Given the description of an element on the screen output the (x, y) to click on. 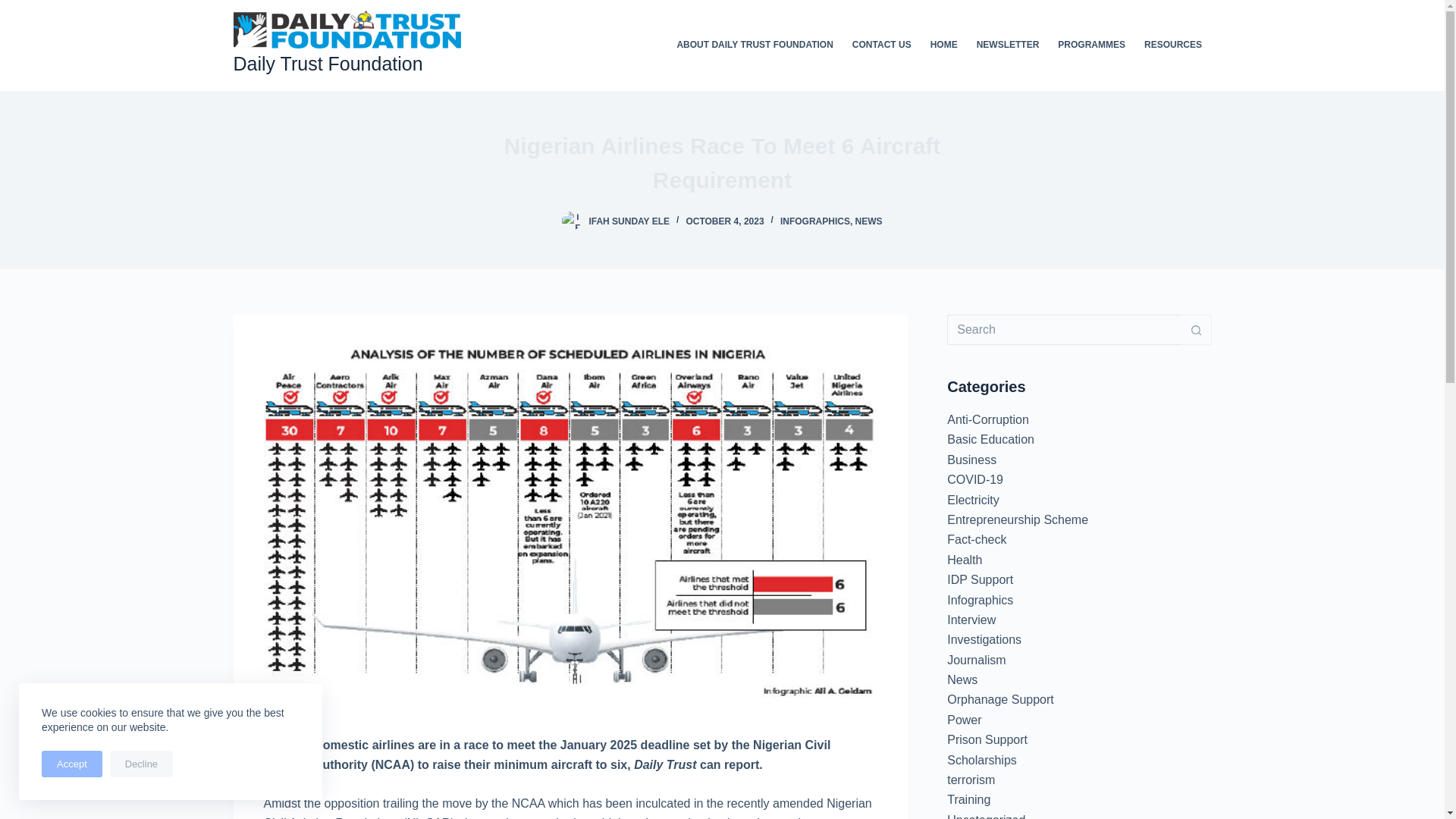
PROGRAMMES (1091, 45)
Basic Education (990, 439)
ABOUT DAILY TRUST FOUNDATION (754, 45)
IFAH SUNDAY ELE (628, 221)
Accept (71, 764)
Business (971, 459)
Nigerian Airlines Race To Meet 6 Aircraft Requirement (722, 162)
Posts by Ifah Sunday Ele (628, 221)
NEWS (869, 221)
COVID-19 (975, 479)
